Given the description of an element on the screen output the (x, y) to click on. 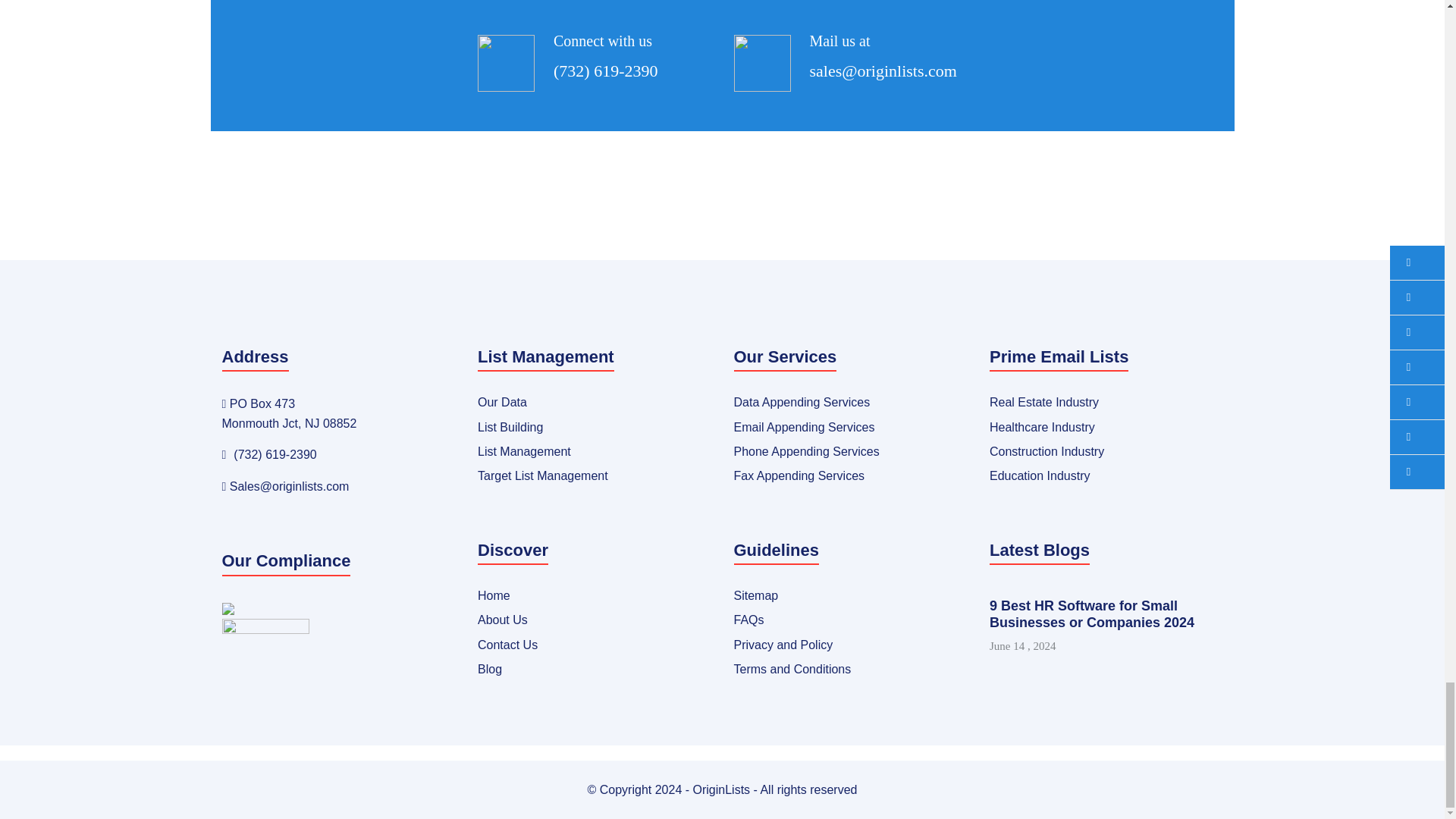
Call - Gif (505, 63)
Email Bottom Gif (761, 63)
